Given the description of an element on the screen output the (x, y) to click on. 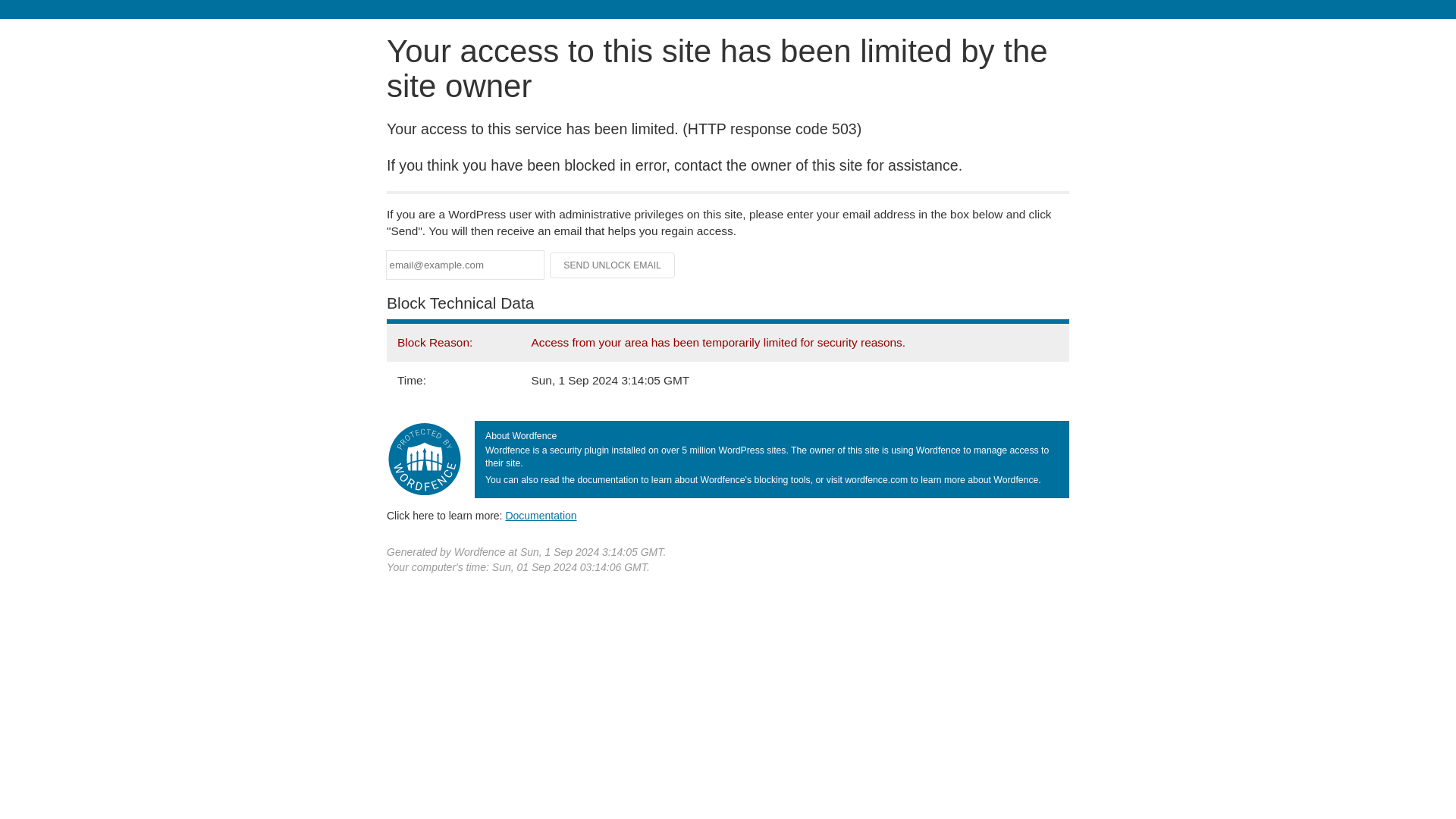
Send Unlock Email (612, 265)
Send Unlock Email (612, 265)
Documentation (540, 515)
